Given the description of an element on the screen output the (x, y) to click on. 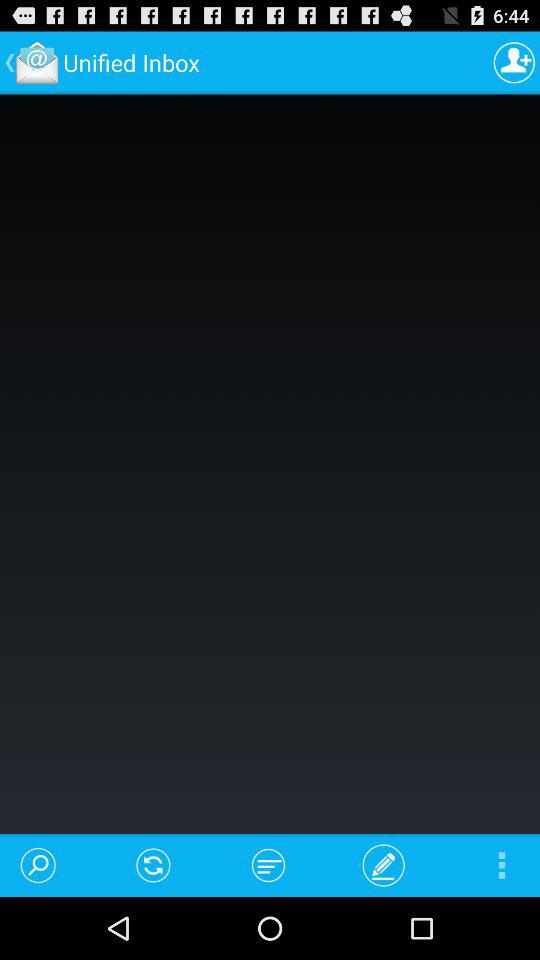
press icon to the right of unified inbox app (514, 62)
